Given the description of an element on the screen output the (x, y) to click on. 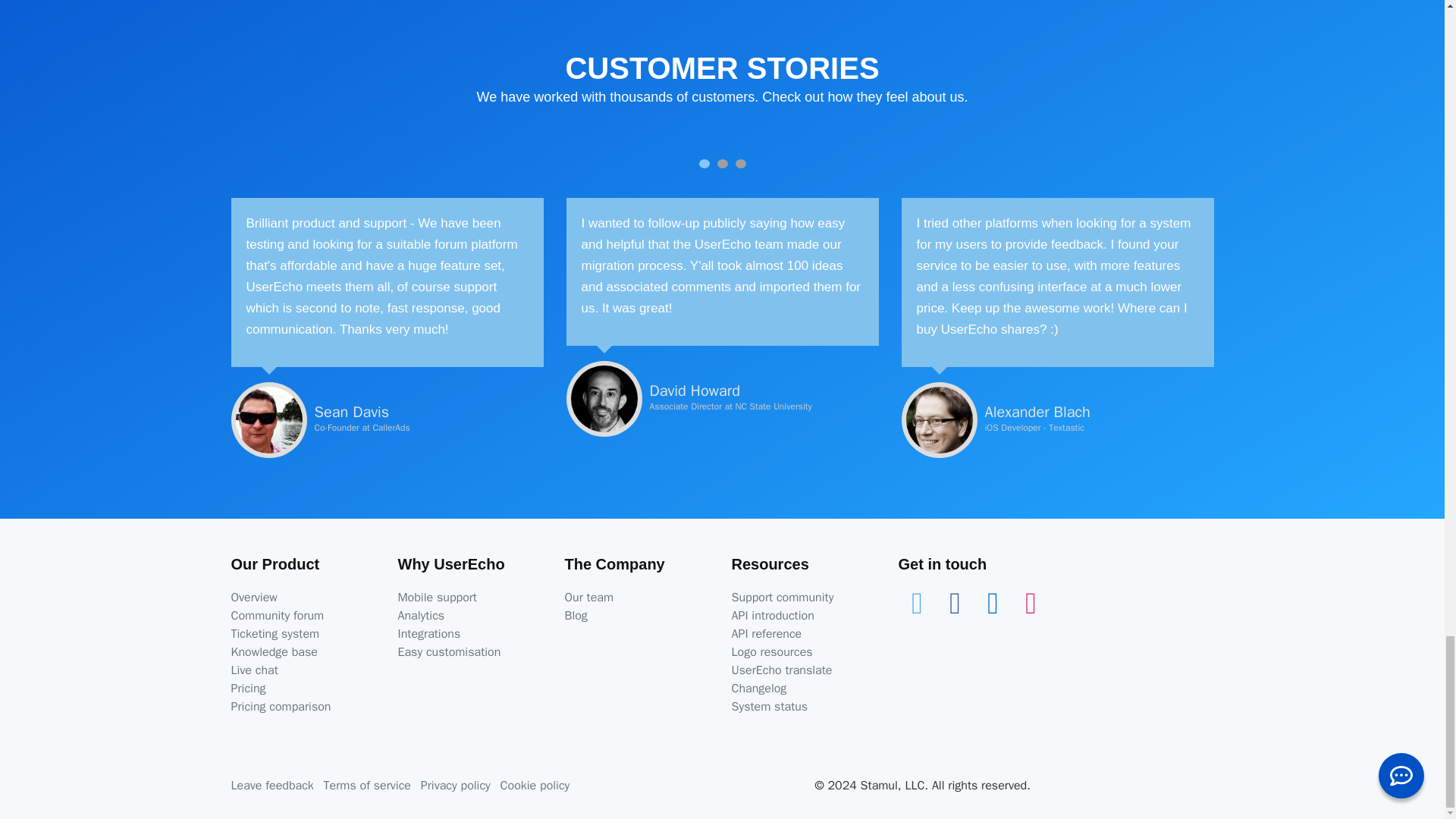
LinkedIn (992, 602)
Facebook (955, 602)
Instagram (1030, 602)
